Given the description of an element on the screen output the (x, y) to click on. 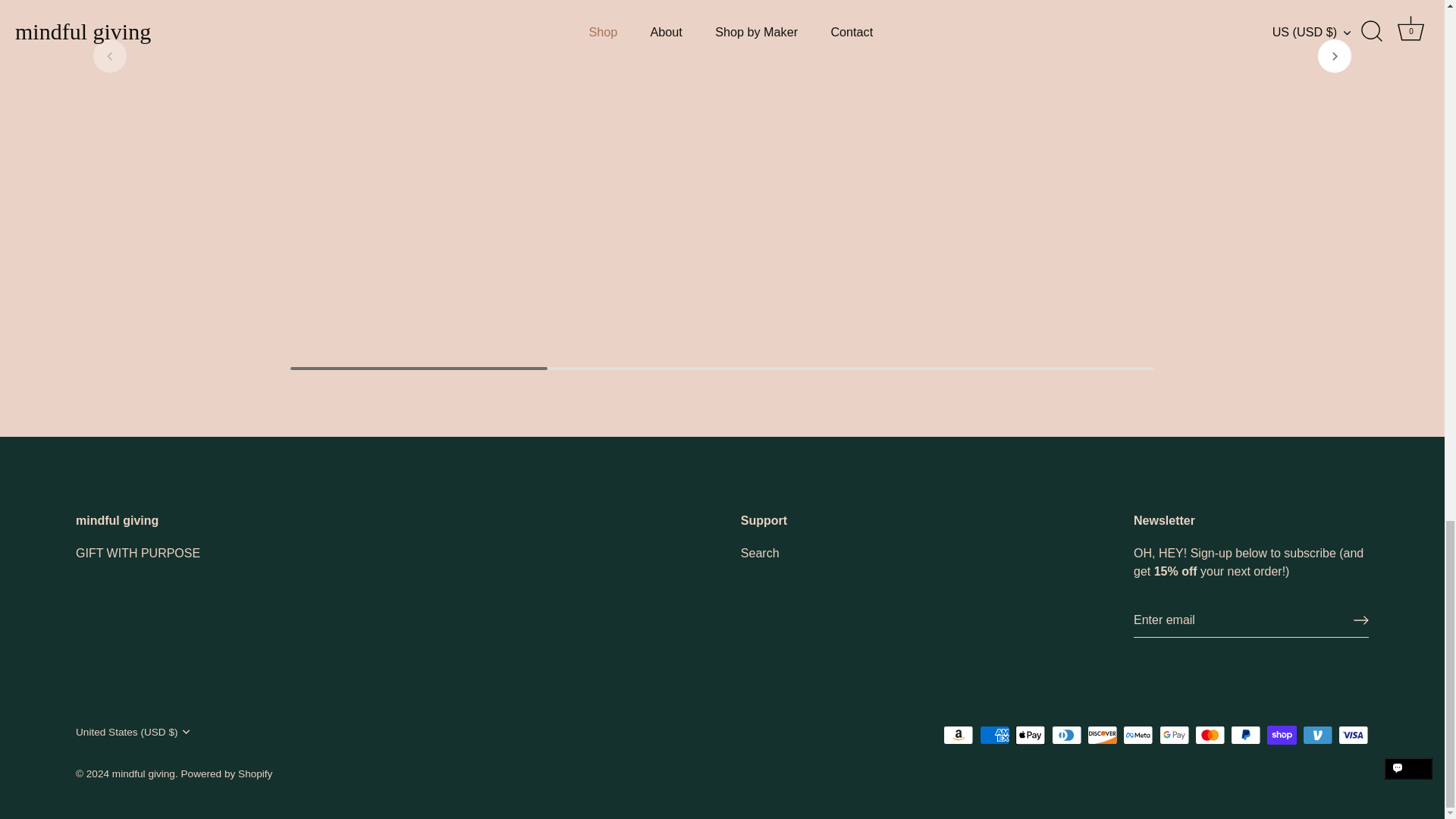
Mastercard (1209, 734)
Google Pay (1173, 734)
Apple Pay (1029, 734)
Shop Pay (1281, 734)
Amazon (958, 734)
Venmo (1317, 734)
Diners Club (1066, 734)
PayPal (1245, 734)
American Express (994, 734)
RIGHT ARROW LONG (1361, 620)
